Given the description of an element on the screen output the (x, y) to click on. 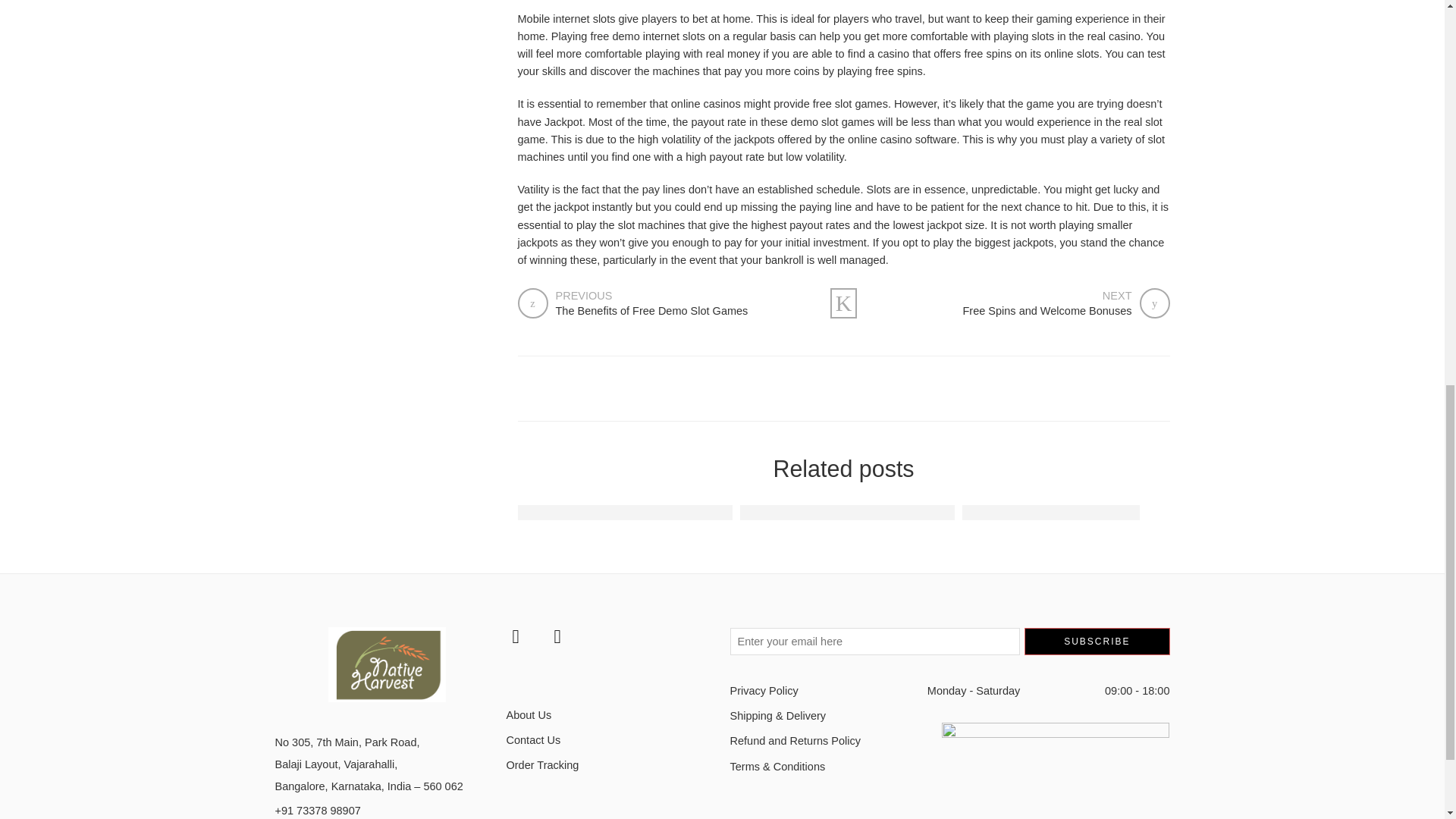
Brazzers Gonzo Porno Videos (1051, 512)
How do No deposit Mobile Casino Incentives Actually work? (914, 512)
SUBSCRIBE (1097, 641)
